Given the description of an element on the screen output the (x, y) to click on. 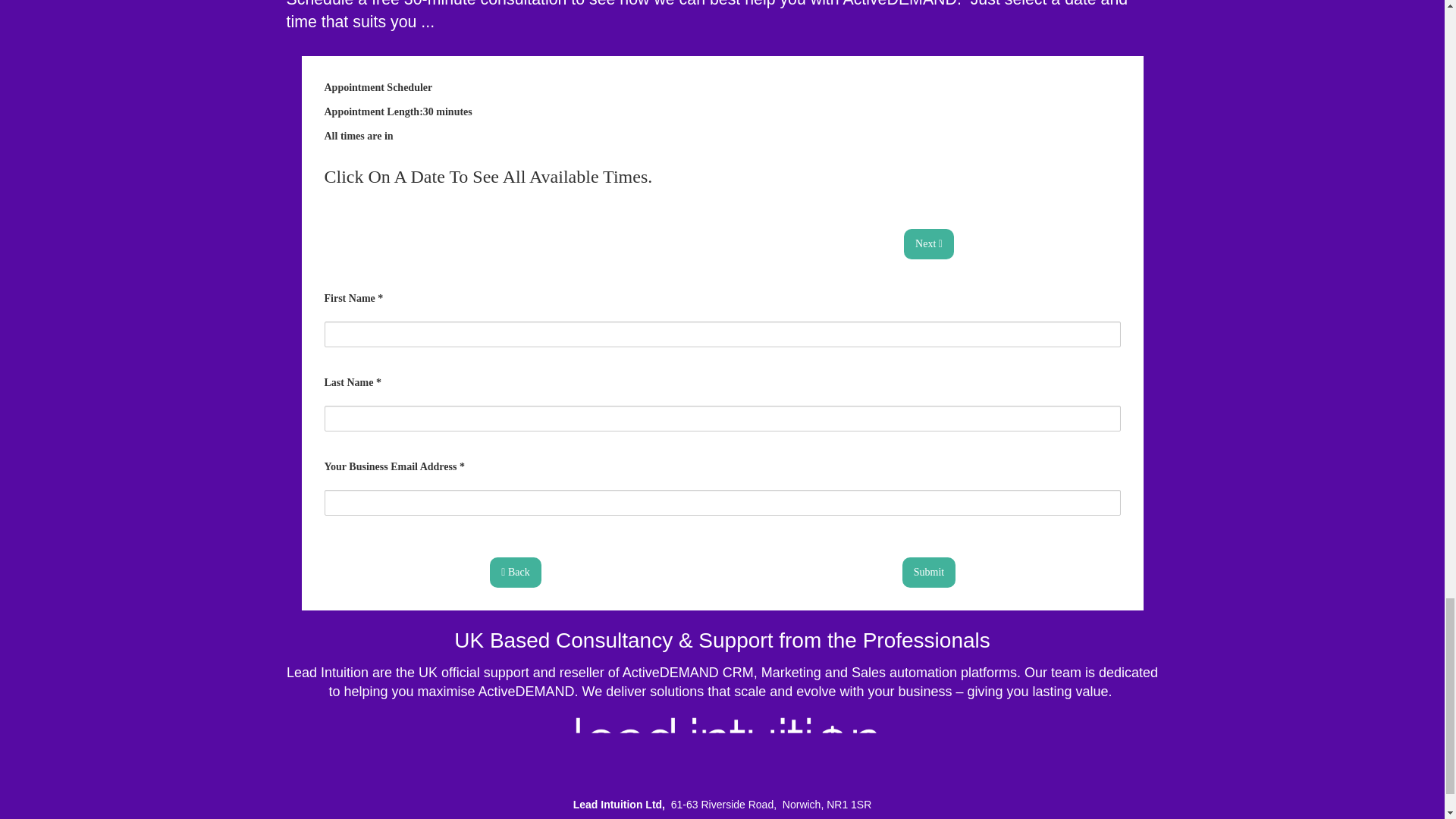
Submit (928, 570)
Next (928, 244)
Back (514, 572)
Submit (928, 572)
Next (928, 241)
Back (514, 570)
